Given the description of an element on the screen output the (x, y) to click on. 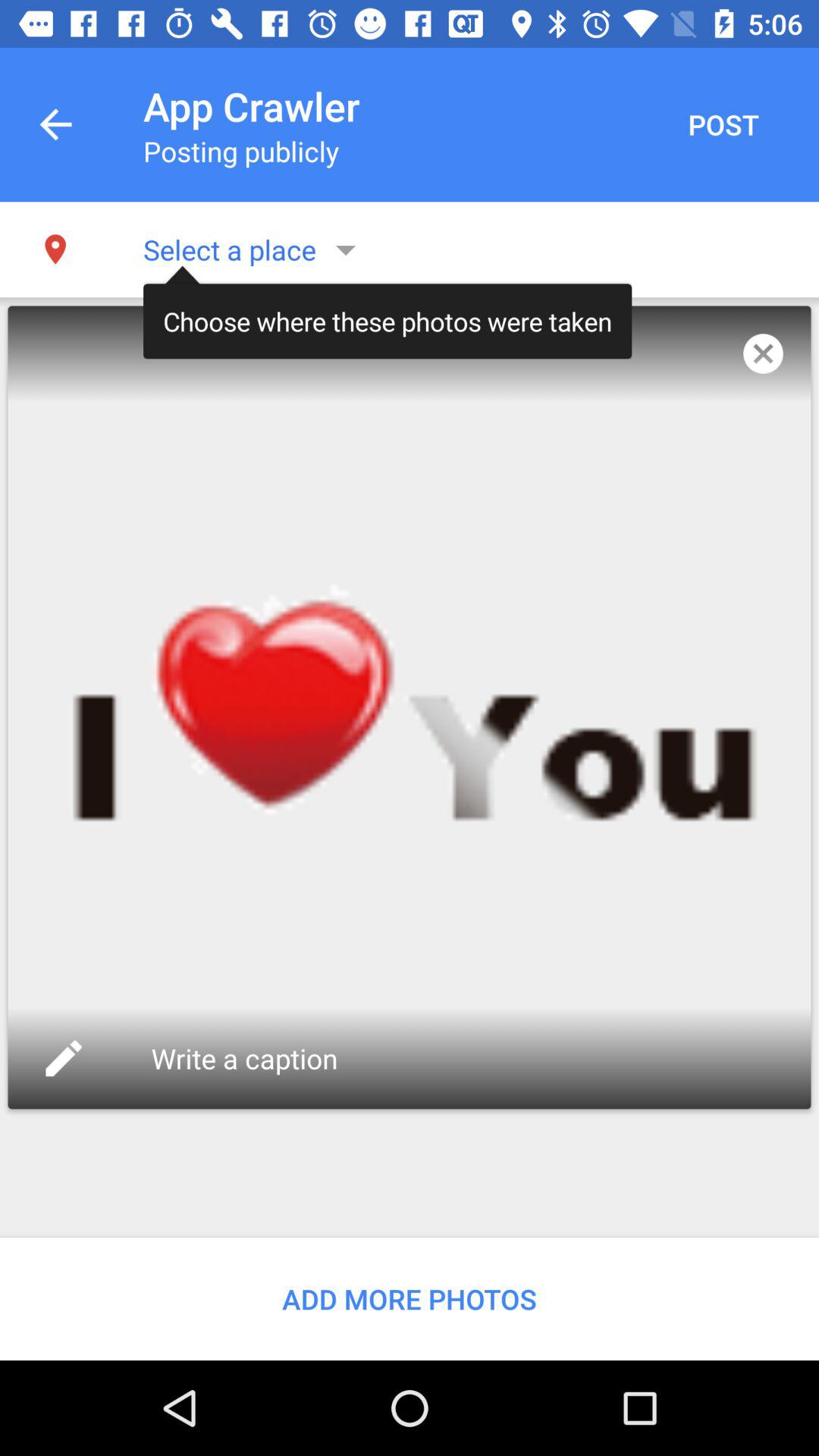
swipe to the add more photos icon (409, 1298)
